Given the description of an element on the screen output the (x, y) to click on. 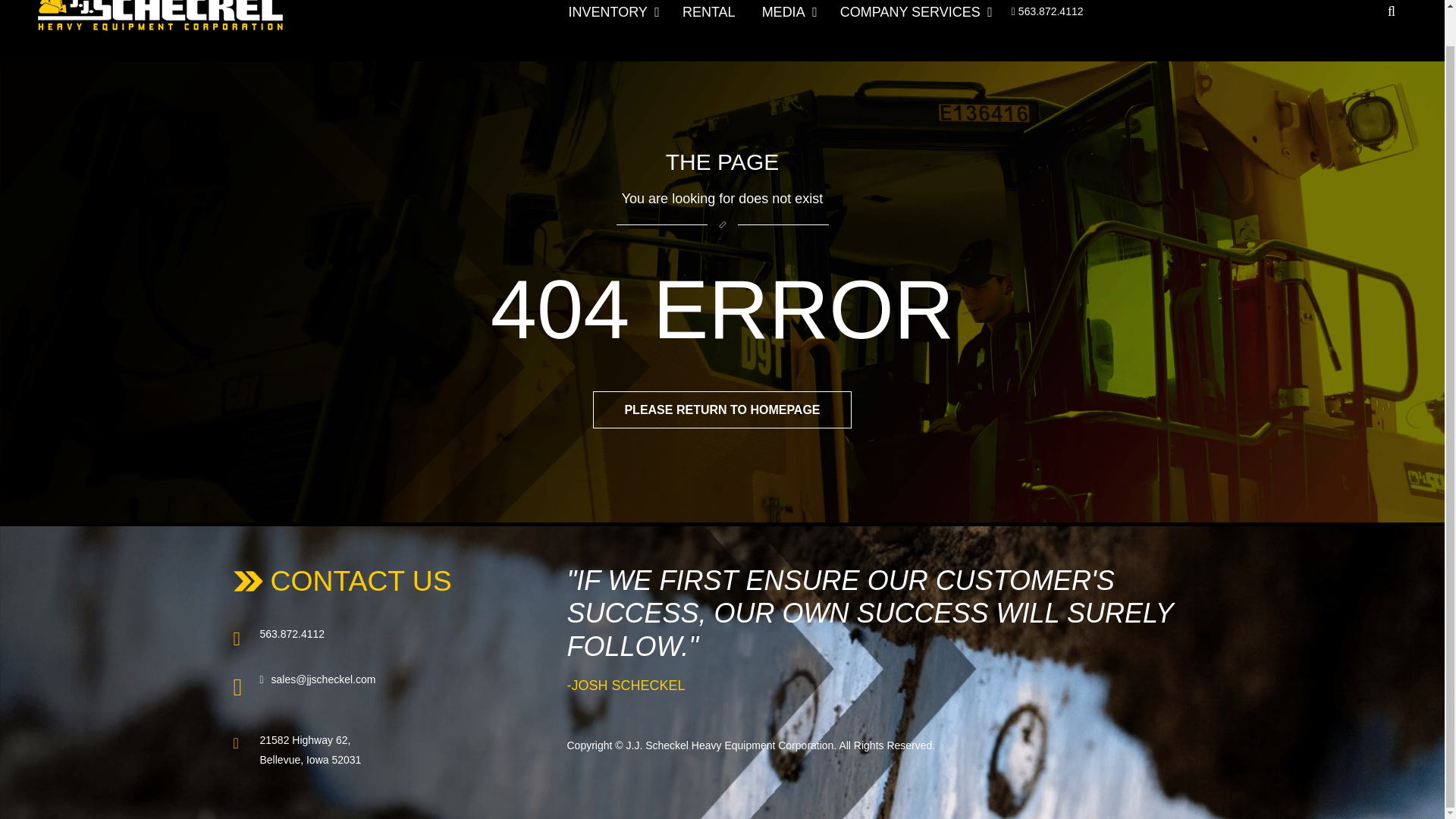
RENTAL (711, 30)
INVENTORY (618, 30)
J.J. Scheckel - Heavy equipment rental, rebuilds, and sales (159, 19)
MEDIA (789, 30)
